Given the description of an element on the screen output the (x, y) to click on. 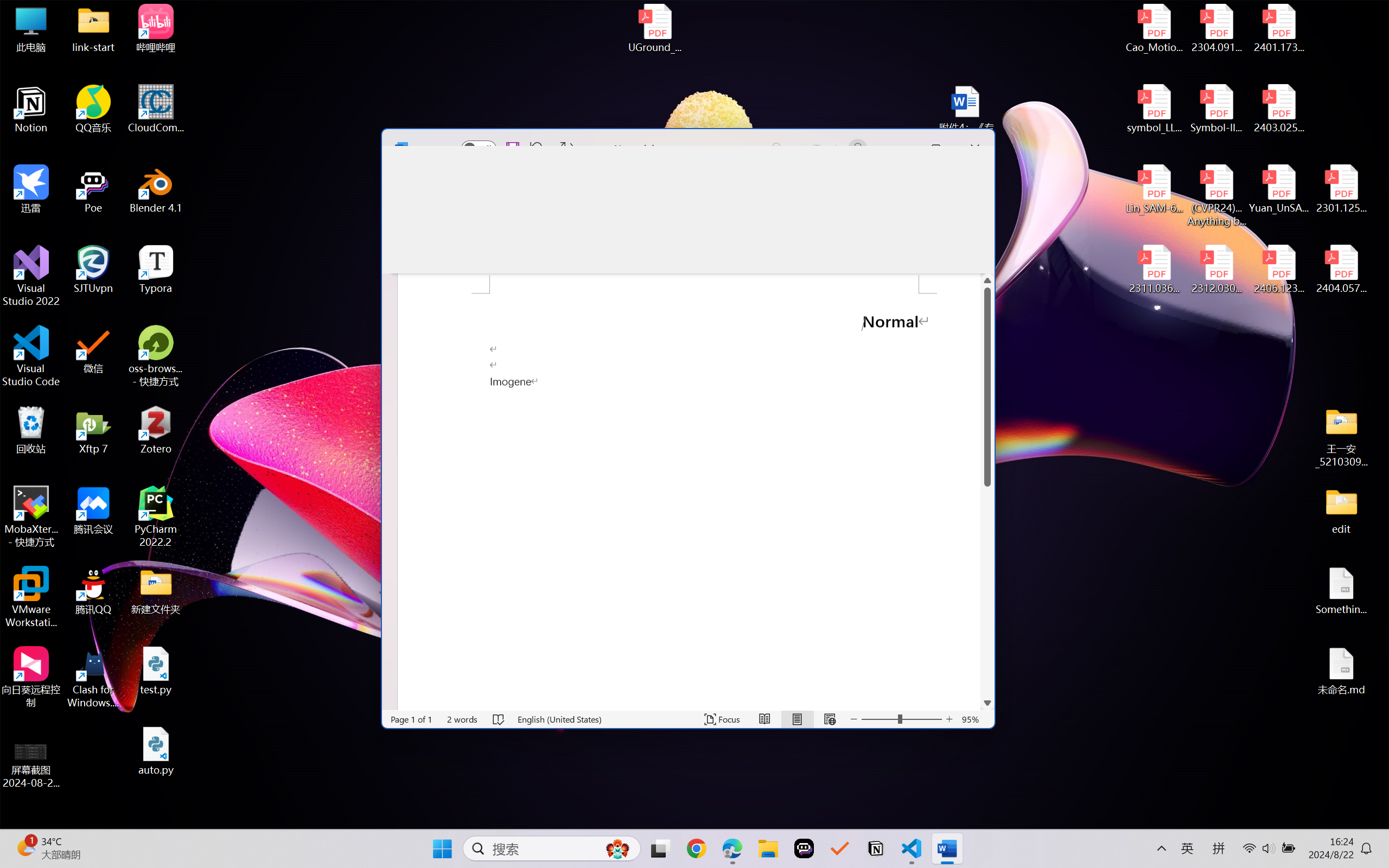
Word Count 2 words (462, 719)
SJTUvpn (93, 269)
Help (881, 180)
Line down (987, 689)
Notion (875, 848)
test.py (156, 670)
Undo Paragraph Formatting (540, 148)
(CVPR24)Matching Anything by Segmenting Anything.pdf (1216, 195)
